Given the description of an element on the screen output the (x, y) to click on. 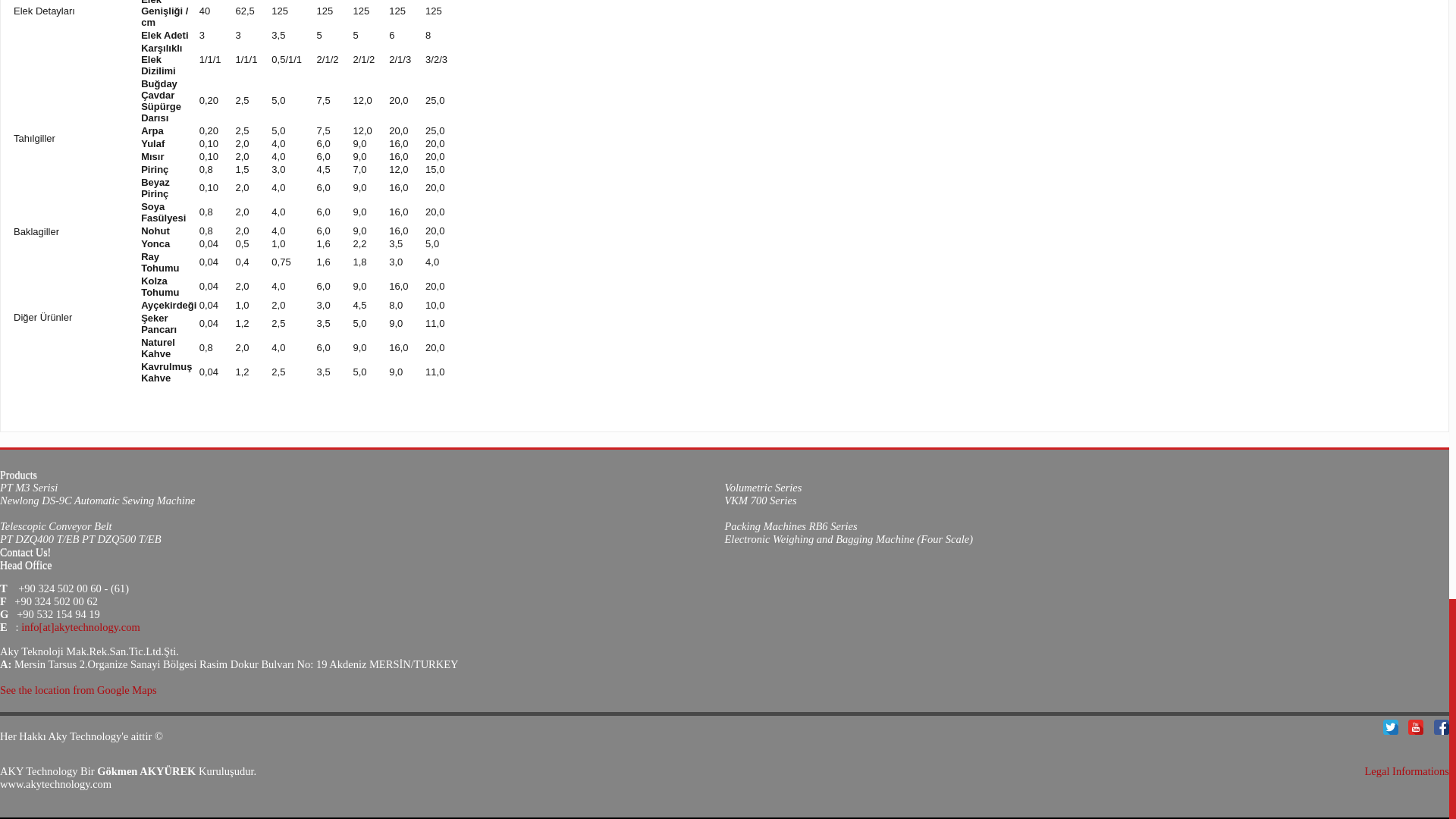
VKM 700 Series (760, 500)
Newlong DS-9C Automatic Sewing Machine (97, 500)
Volumetric Series (763, 487)
Packing Machines RB6 Series (791, 526)
PT M3 Serisi (29, 487)
Telescopic Conveyor Belt (56, 526)
